Given the description of an element on the screen output the (x, y) to click on. 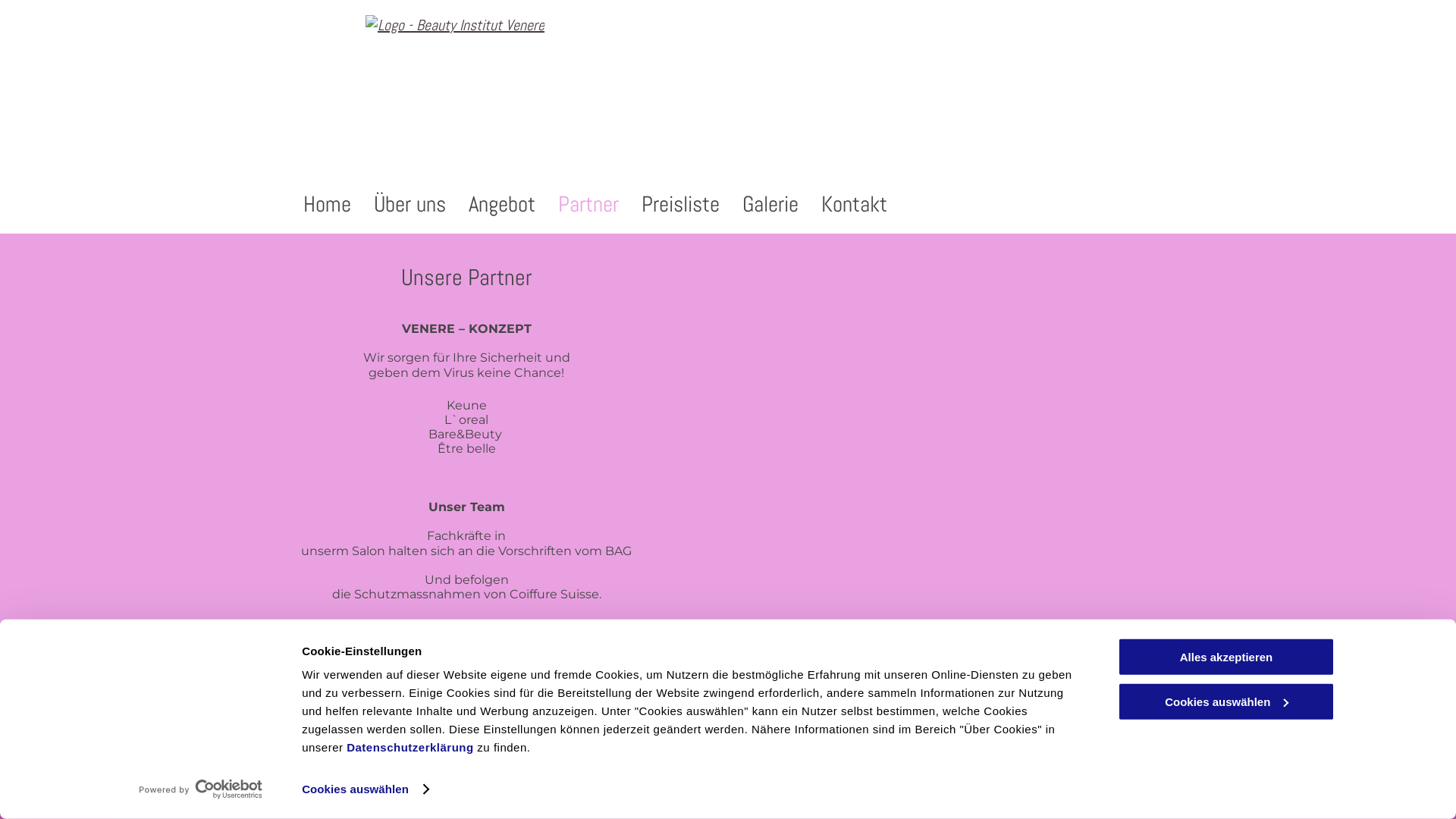
Preisliste Element type: text (680, 204)
Partner Element type: text (588, 204)
Kontakt Element type: text (854, 204)
Home Element type: text (327, 204)
Angebot Element type: text (501, 204)
Galerie Element type: text (770, 204)
+41432666878 Element type: text (66, 808)
Alles akzeptieren Element type: text (1225, 656)
